Given the description of an element on the screen output the (x, y) to click on. 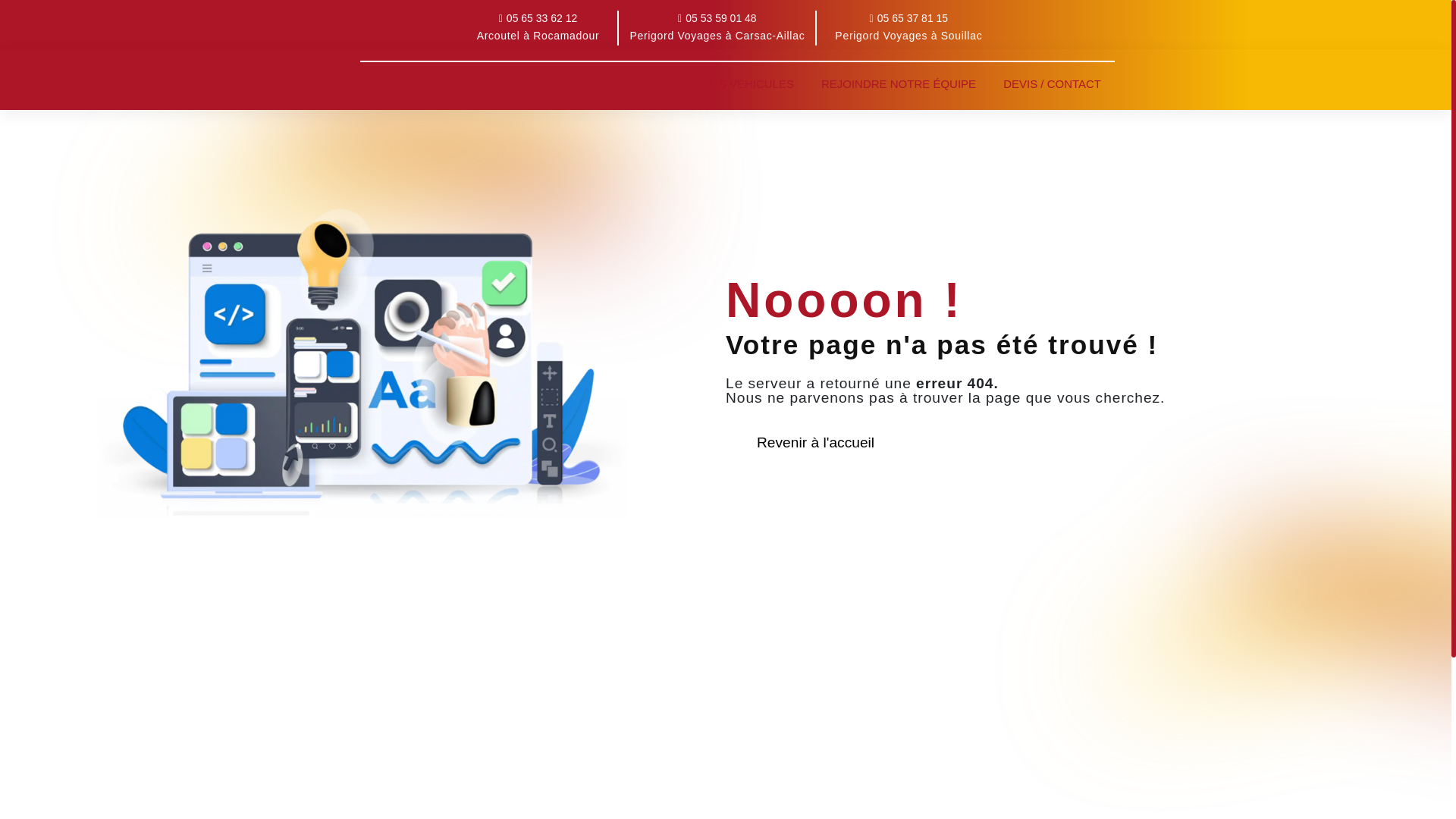
GROUPE ARCOUTEL (507, 84)
05 65 37 81 15 (909, 18)
05 65 33 62 12 (538, 18)
NOS AGENCES (632, 84)
ACCUEIL (398, 84)
05 53 59 01 48 (717, 18)
